Given the description of an element on the screen output the (x, y) to click on. 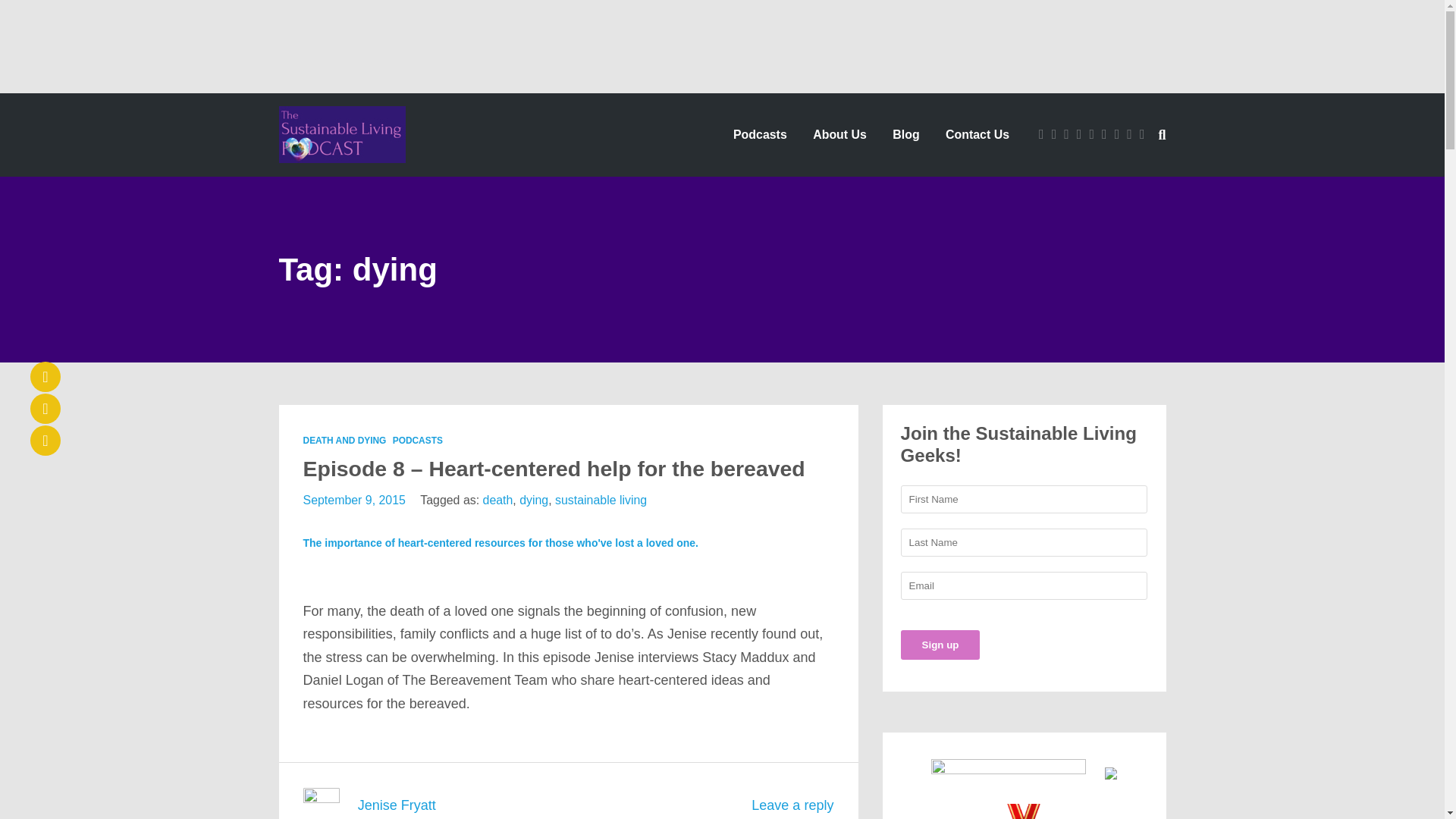
dying (533, 499)
sustainable living (600, 499)
PODCASTS (417, 439)
About Us (839, 134)
Leave a reply (791, 805)
death (498, 499)
Blog (905, 134)
Podcasts (759, 134)
Sign up (940, 644)
Contact Us (977, 134)
Sign up (940, 644)
September 9, 2015 (354, 499)
DEATH AND DYING (344, 439)
Jenise Fryatt (396, 805)
